Given the description of an element on the screen output the (x, y) to click on. 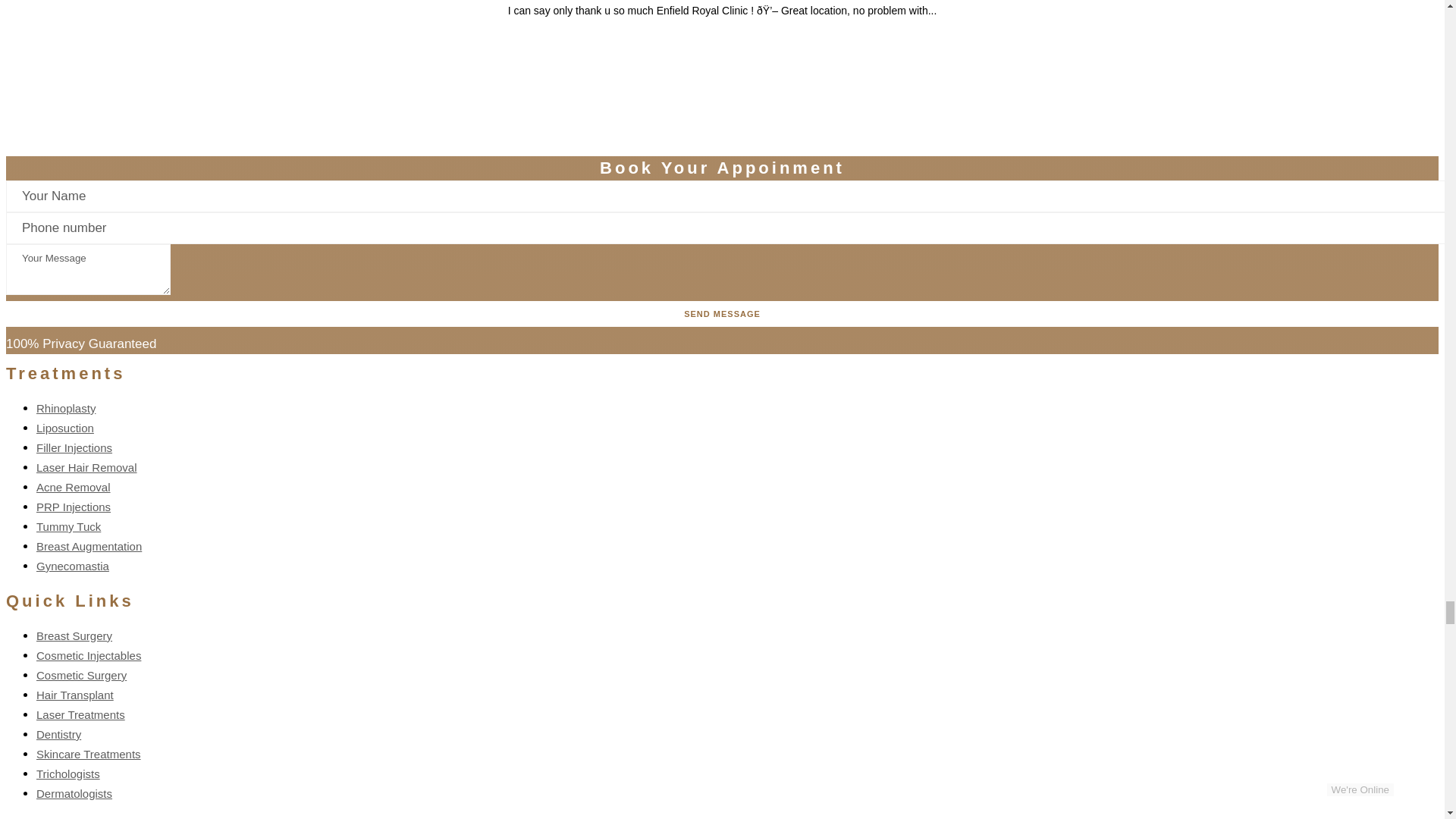
Send message (721, 313)
